Given the description of an element on the screen output the (x, y) to click on. 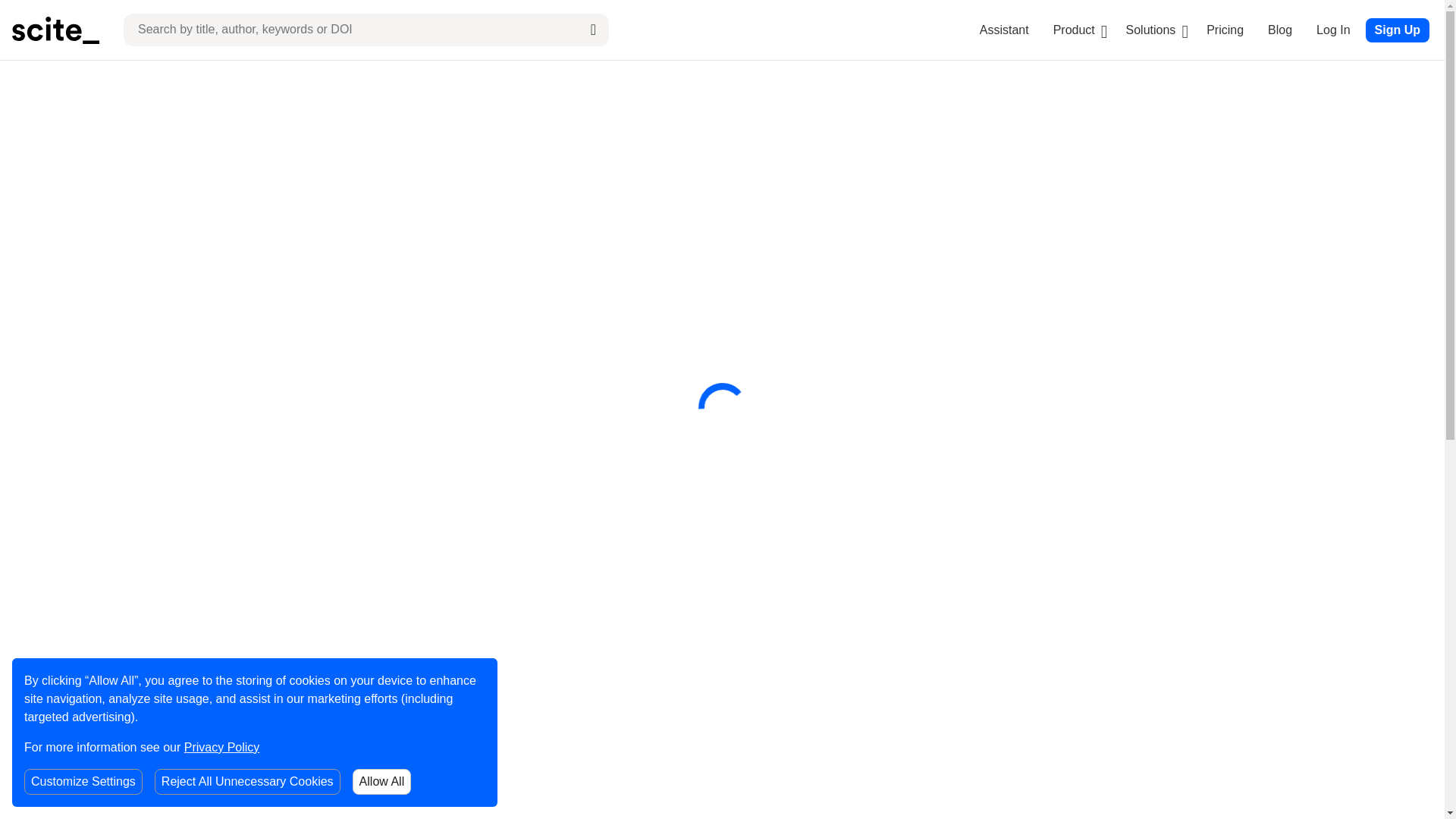
Pricing (1225, 29)
Assistant (1004, 29)
Blog (1280, 29)
Product (1073, 29)
Solutions (1150, 29)
Log In (1332, 29)
Sign Up (1397, 30)
